Given the description of an element on the screen output the (x, y) to click on. 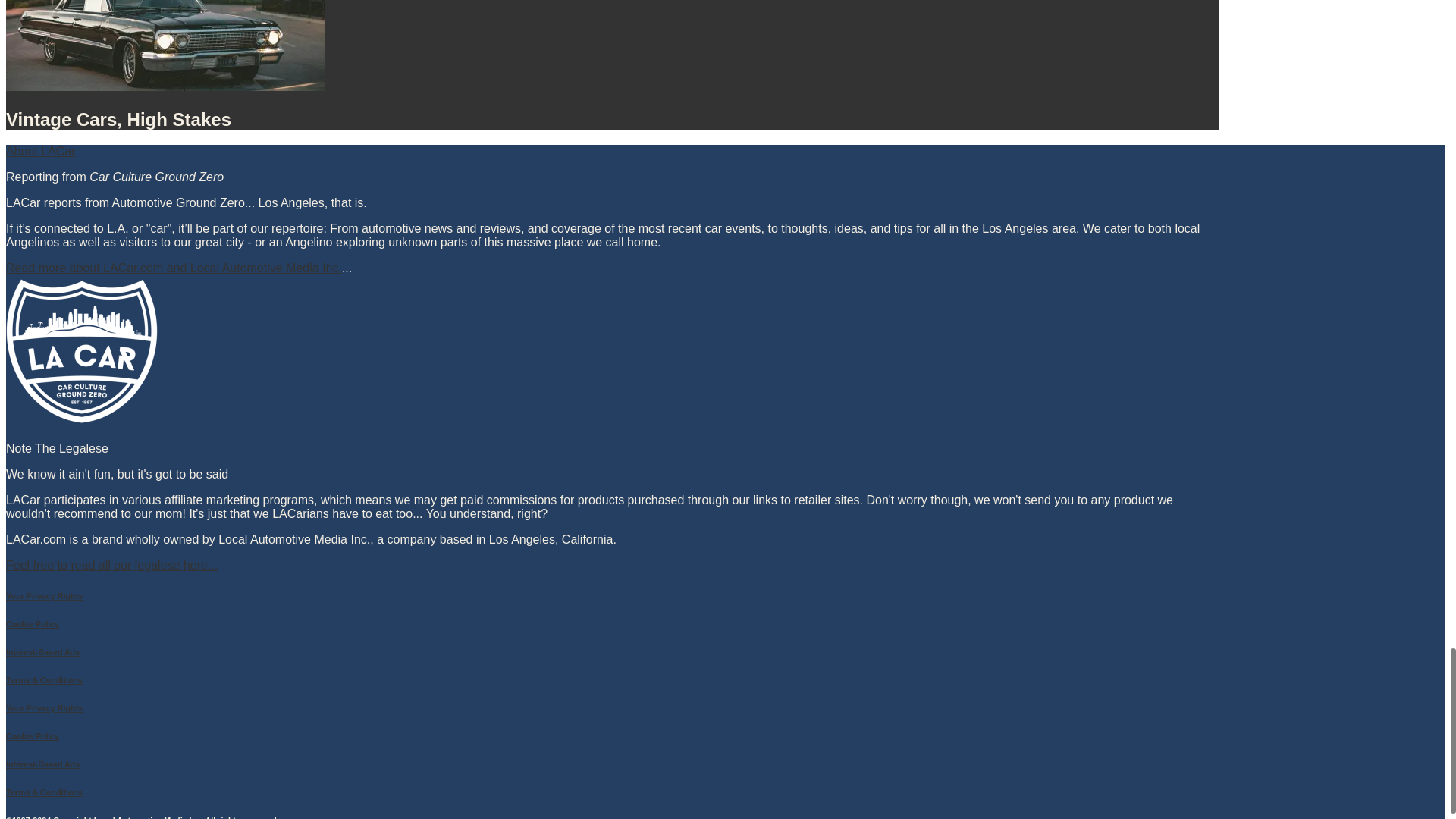
Read more about LACar.com and Local Automotive Media Inc. (173, 267)
Feel free to read all our legalese here... (110, 564)
About LACar (612, 151)
